Given the description of an element on the screen output the (x, y) to click on. 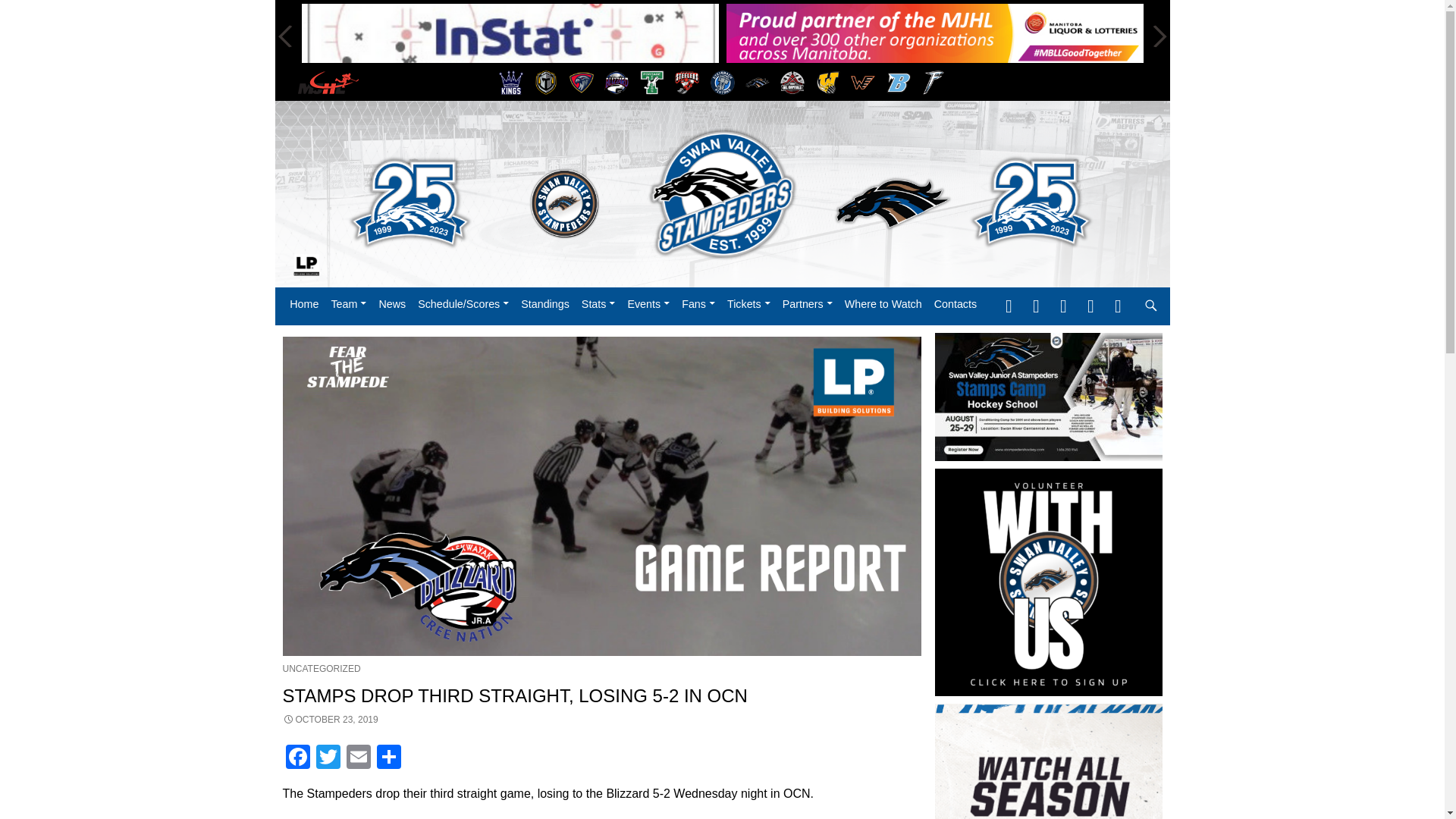
PREVIOUS (286, 36)
NEXT (1158, 36)
InStat Hockey (510, 36)
MBLL (934, 36)
